Given the description of an element on the screen output the (x, y) to click on. 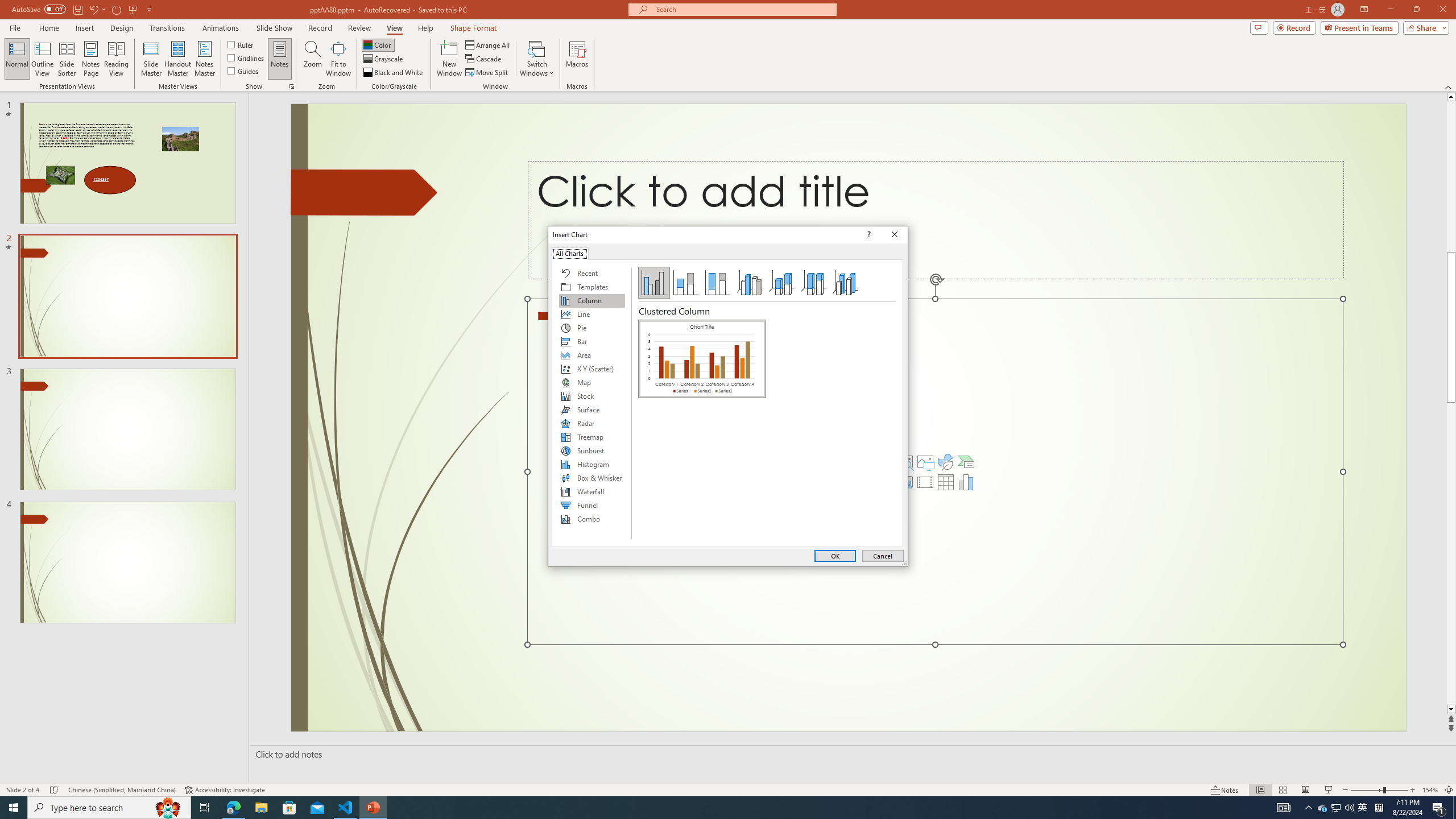
Fit to Window (338, 58)
3-D Stacked Column (781, 282)
